Given the description of an element on the screen output the (x, y) to click on. 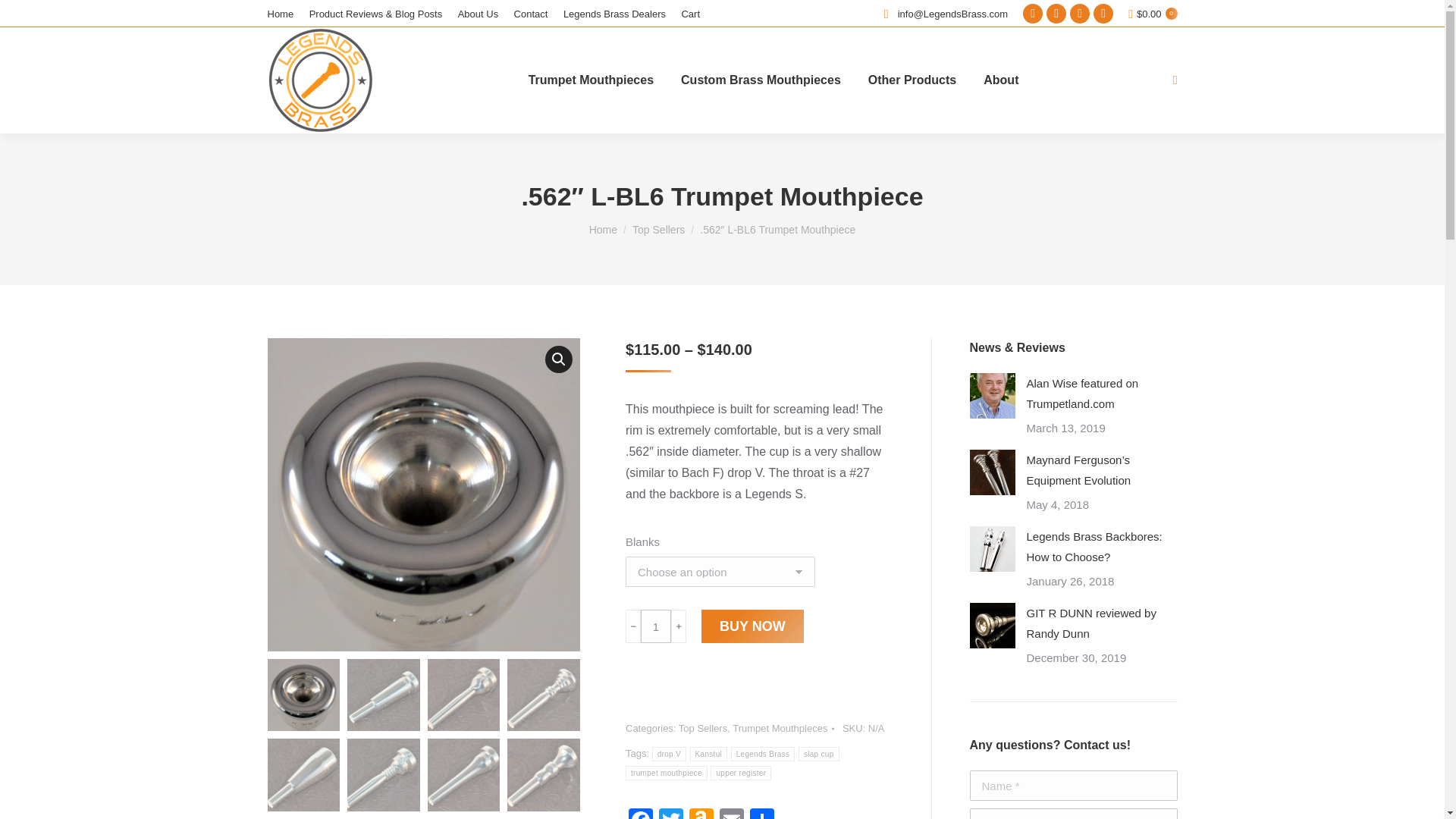
X page opens in new window (1055, 13)
About Us (477, 12)
Home (280, 12)
Cart (690, 12)
Instagram page opens in new window (1079, 13)
Contact (530, 12)
Custom Brass Mouthpieces (761, 79)
Facebook page opens in new window (1032, 13)
Facebook page opens in new window (1032, 13)
YouTube page opens in new window (1103, 13)
Instagram page opens in new window (1079, 13)
1 (655, 625)
Trumpet Mouthpieces (590, 79)
Home (603, 229)
YouTube page opens in new window (1103, 13)
